Given the description of an element on the screen output the (x, y) to click on. 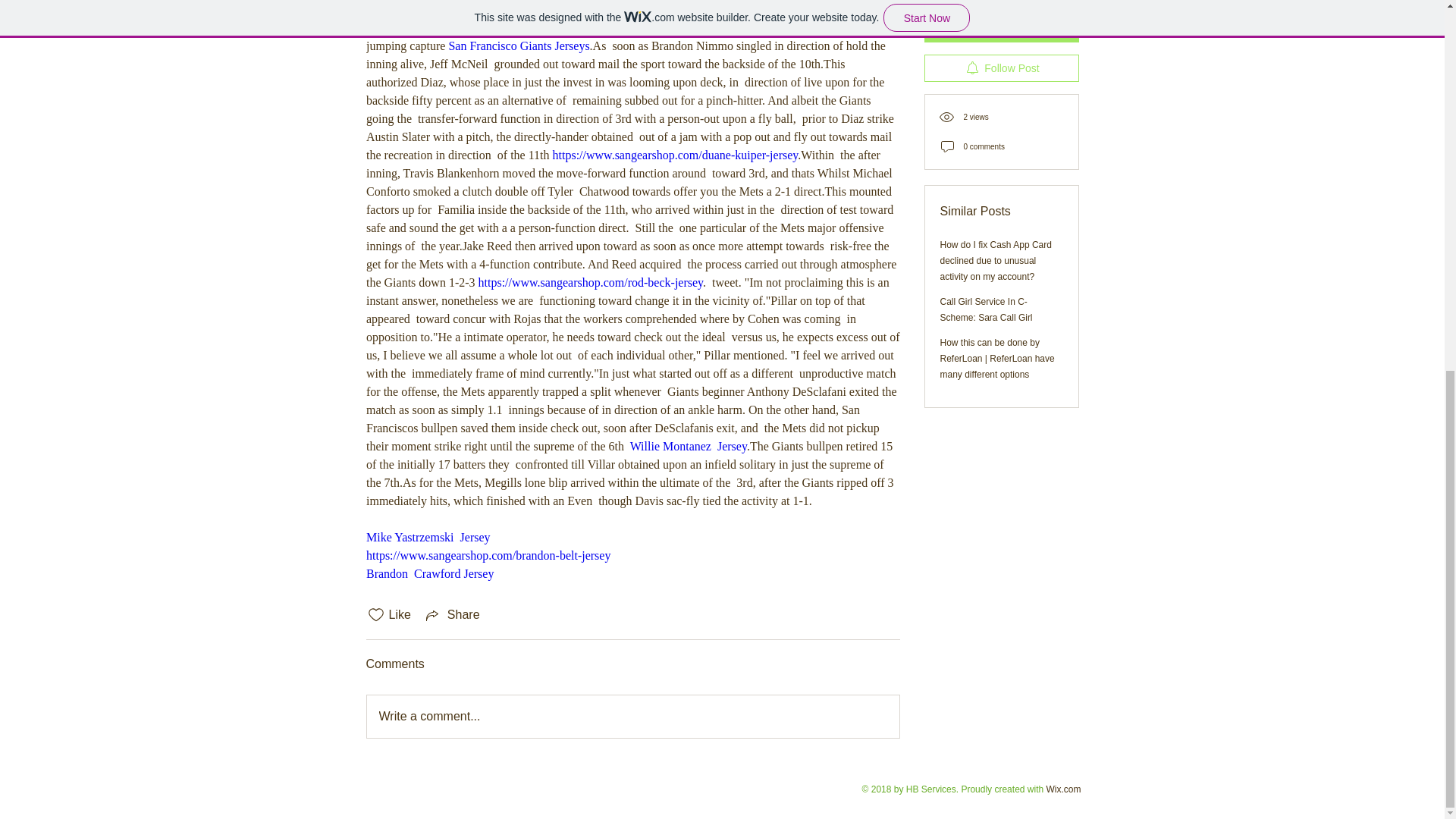
Share (451, 615)
Wix.com (1063, 788)
Call Girl Service In C-Scheme: Sara Call Girl (986, 125)
Brandon  Crawford Jersey (429, 573)
Willie Montanez  Jersey (686, 445)
San Francisco Giants Jerseys (518, 45)
Write a comment... (632, 716)
Mike Yastrzemski  Jersey (427, 536)
